Given the description of an element on the screen output the (x, y) to click on. 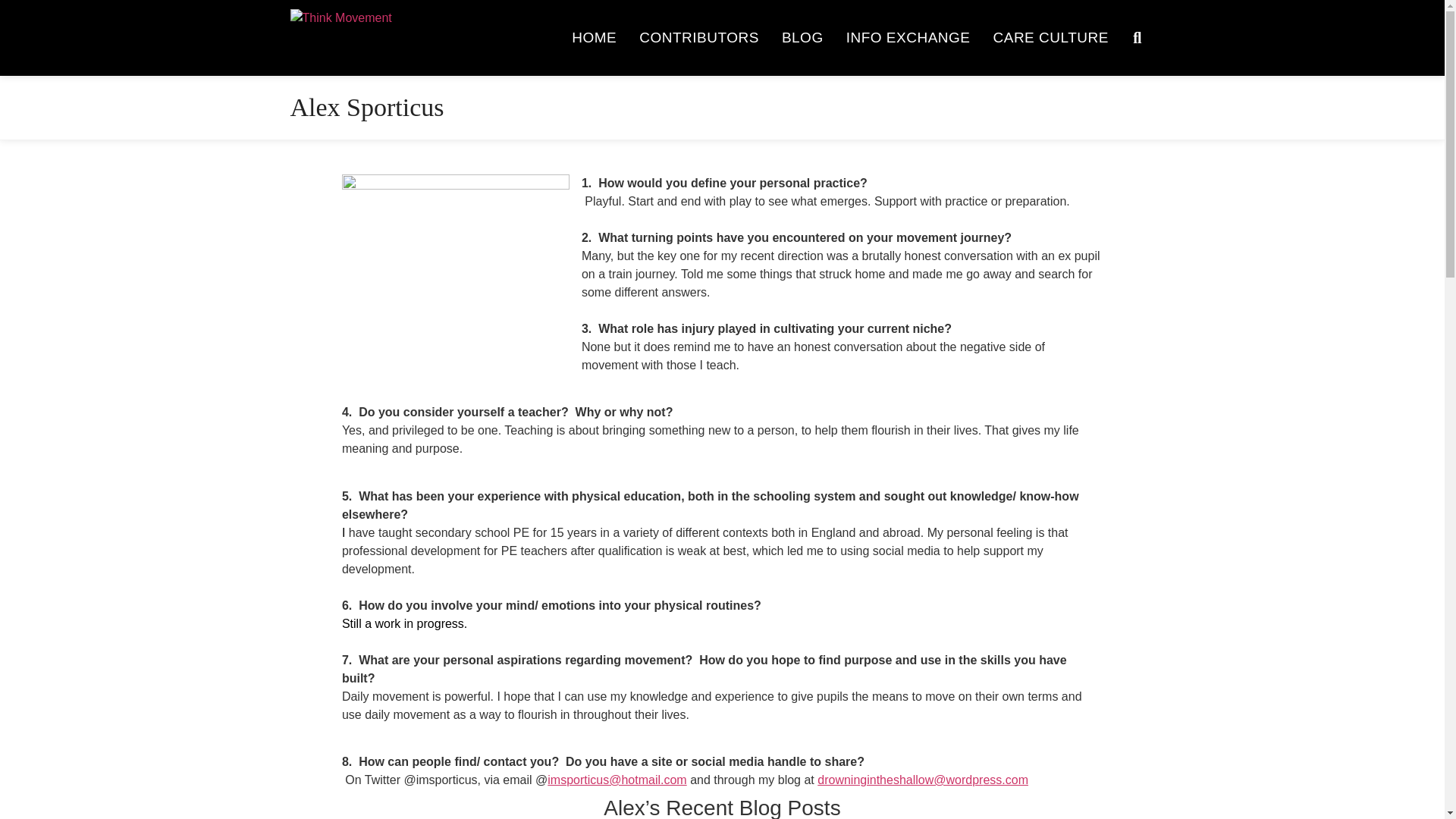
CARE CULTURE (1050, 38)
INFO EXCHANGE (907, 38)
HOME (593, 38)
CONTRIBUTORS (698, 38)
